Given the description of an element on the screen output the (x, y) to click on. 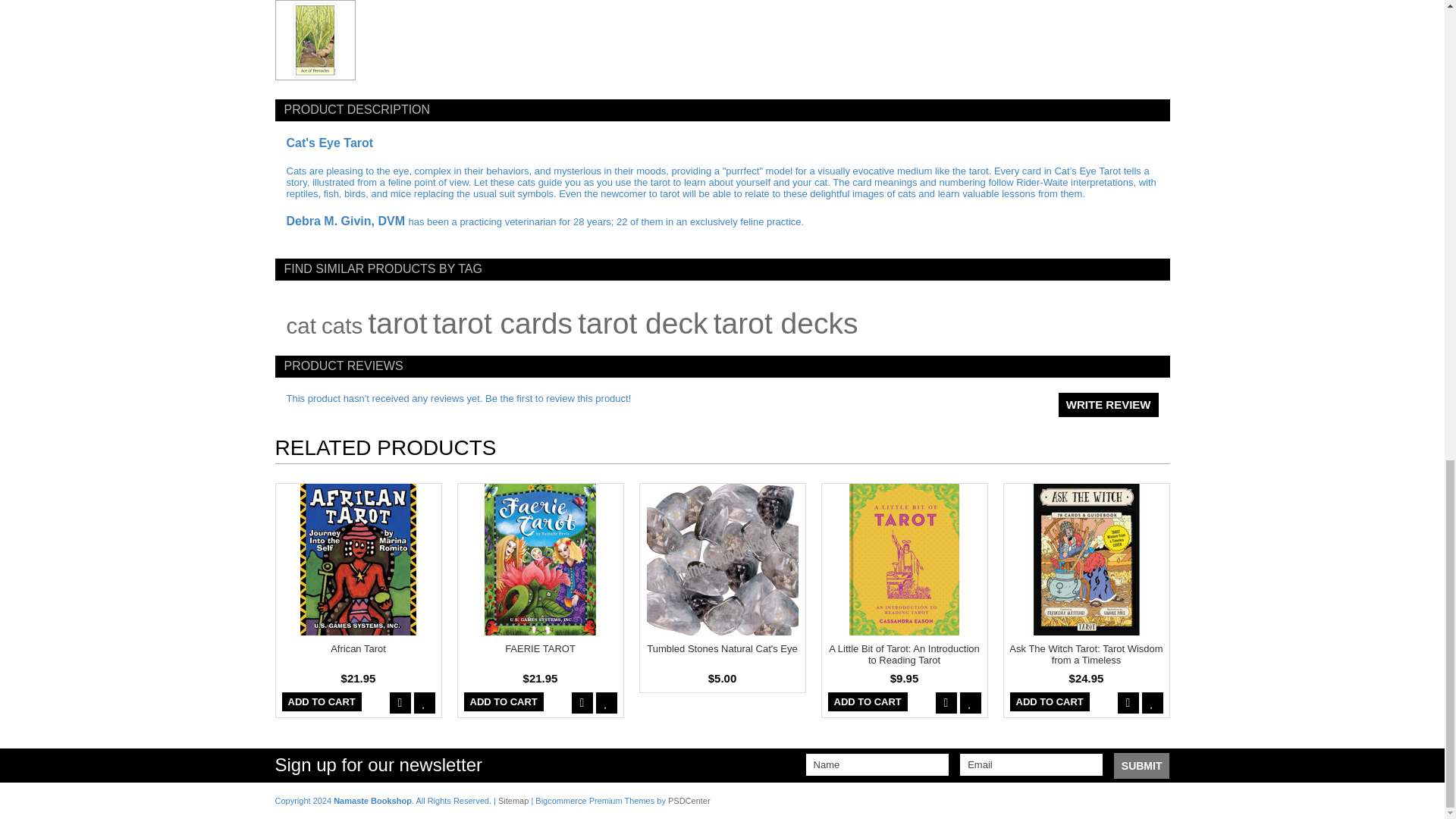
Email (1031, 764)
Submit (1141, 765)
Name (877, 764)
